Given the description of an element on the screen output the (x, y) to click on. 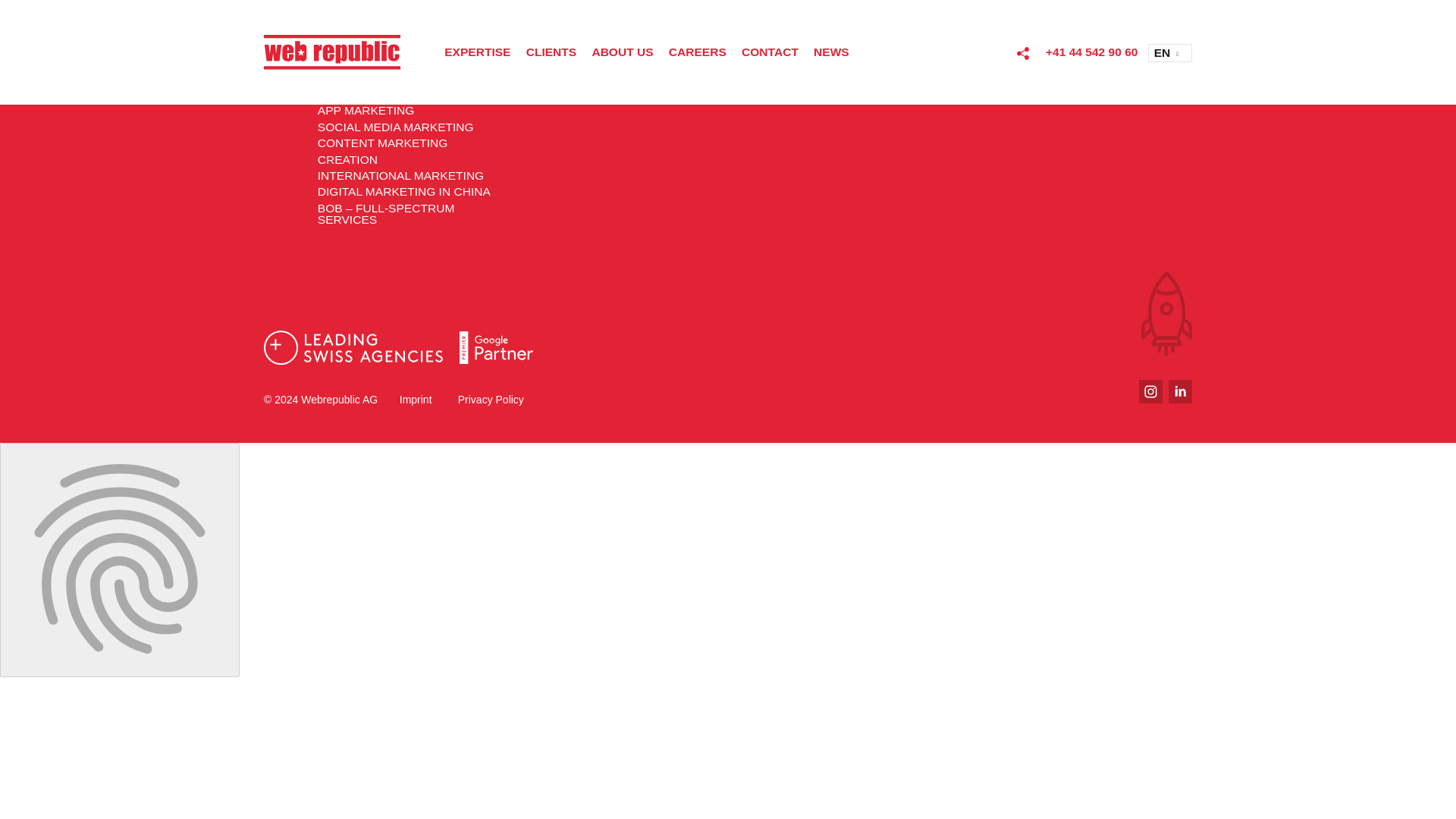
LSA (352, 347)
